Given the description of an element on the screen output the (x, y) to click on. 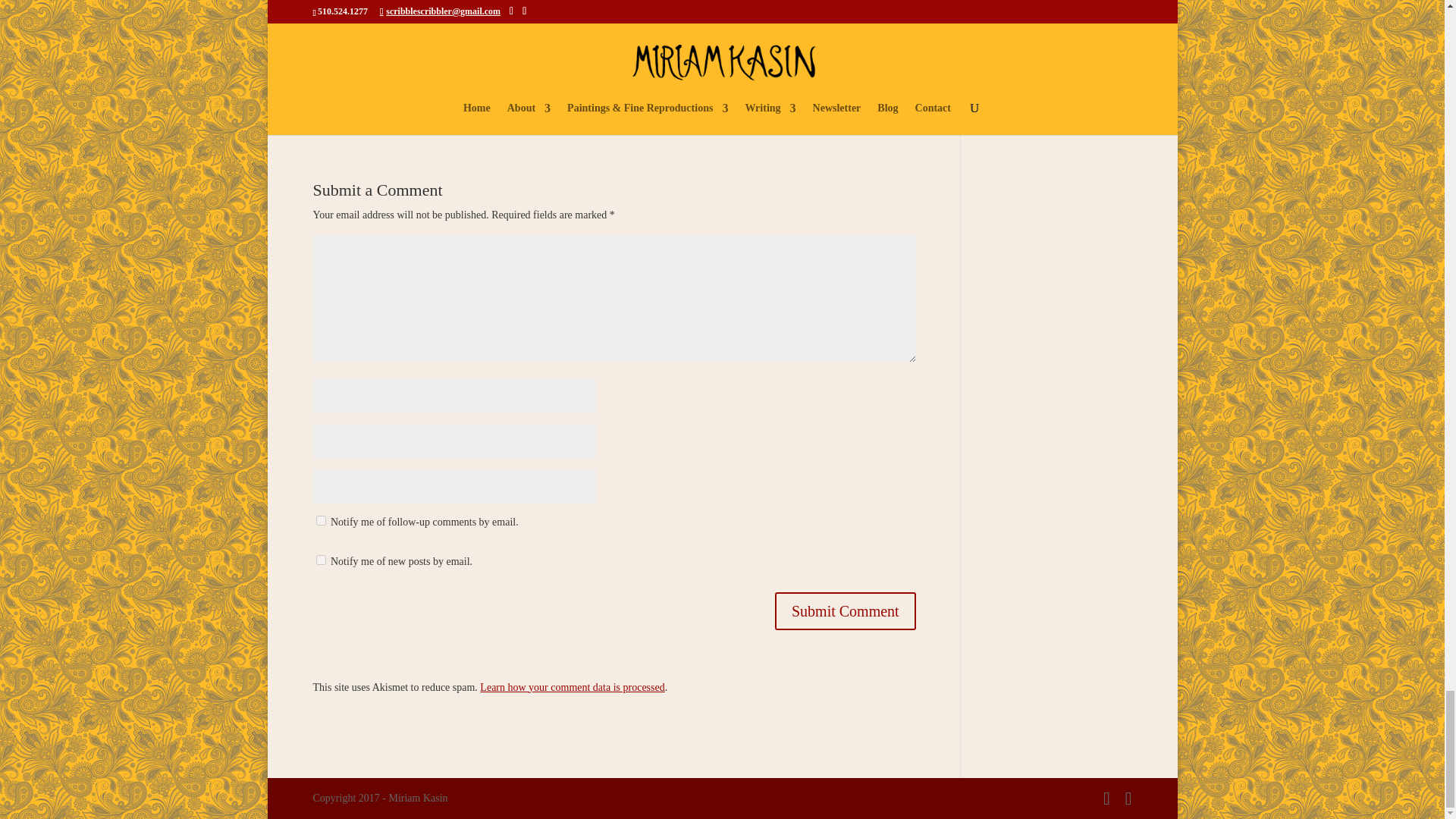
subscribe (319, 560)
subscribe (319, 520)
Submit Comment (844, 610)
